Given the description of an element on the screen output the (x, y) to click on. 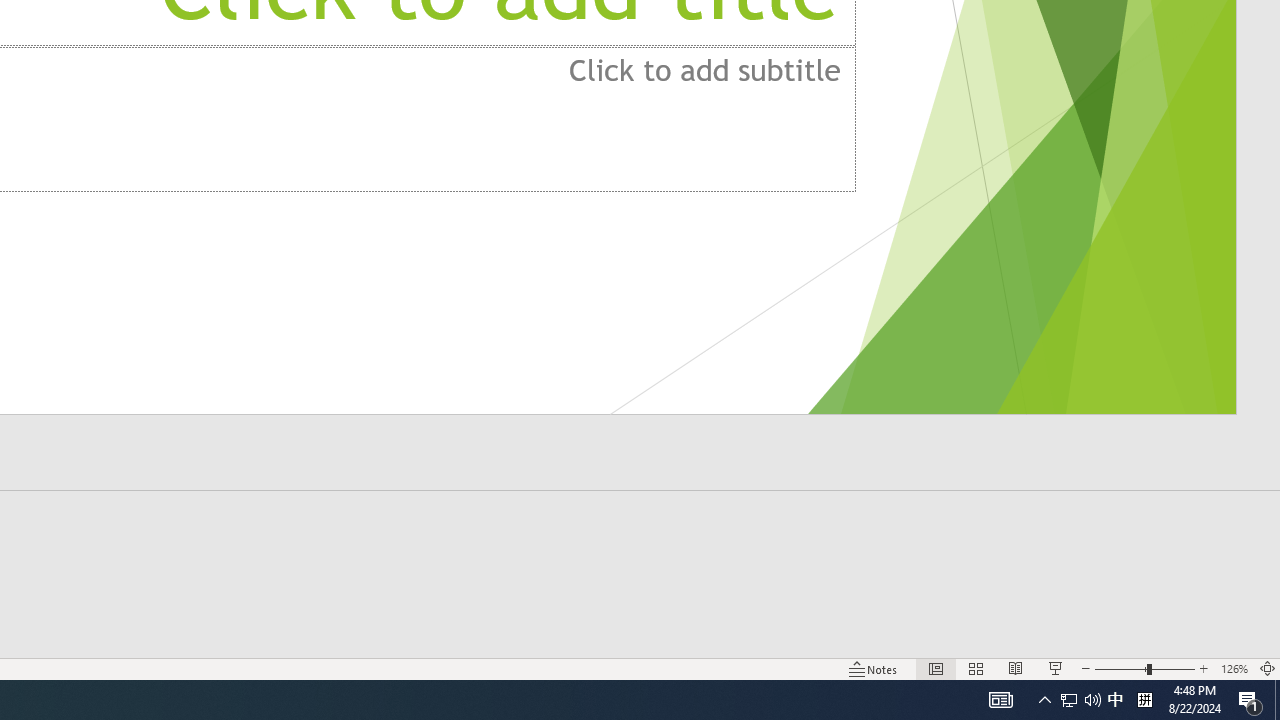
Zoom 126% (1234, 668)
